Given the description of an element on the screen output the (x, y) to click on. 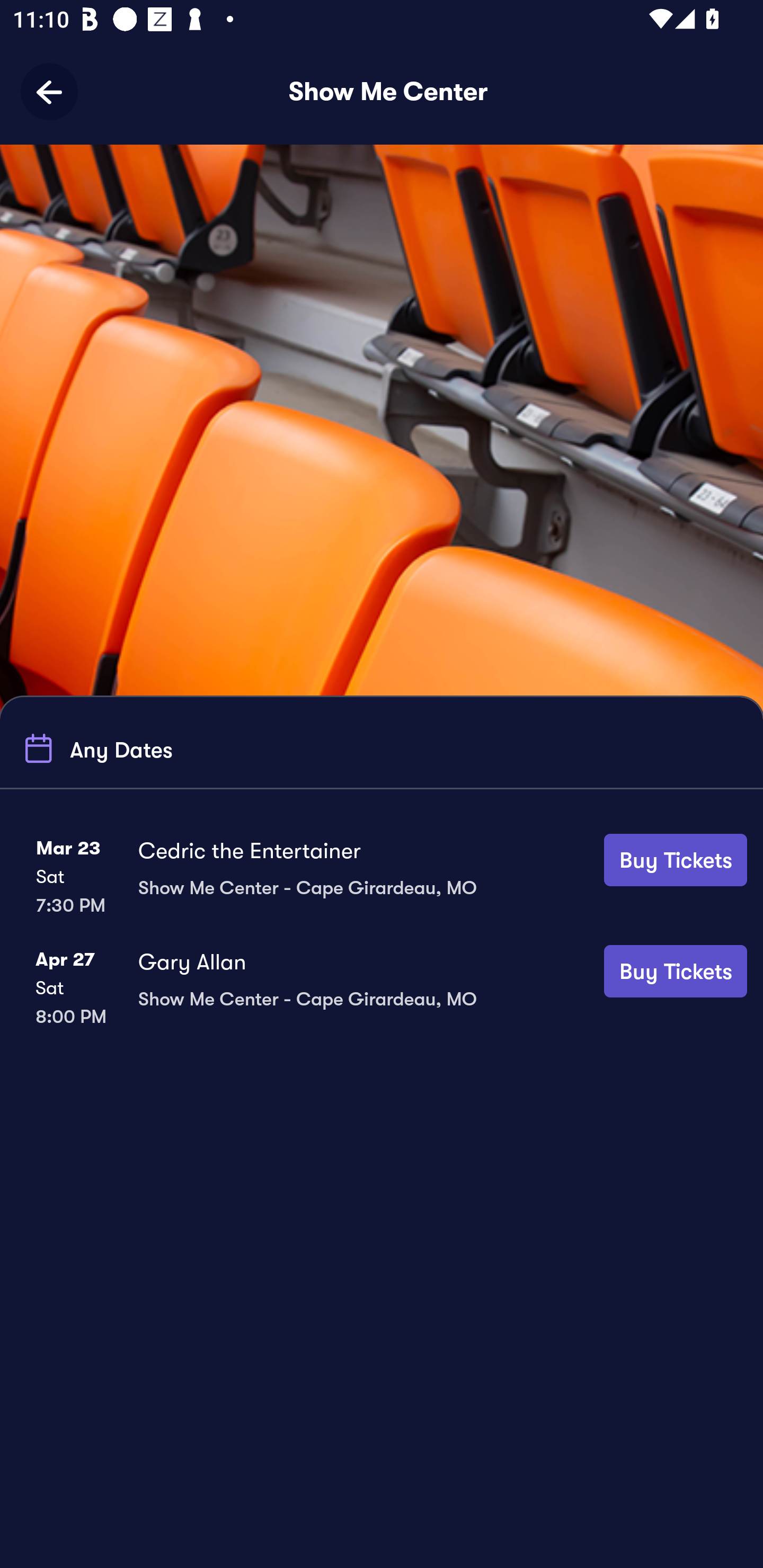
Any Dates (95, 749)
